Given the description of an element on the screen output the (x, y) to click on. 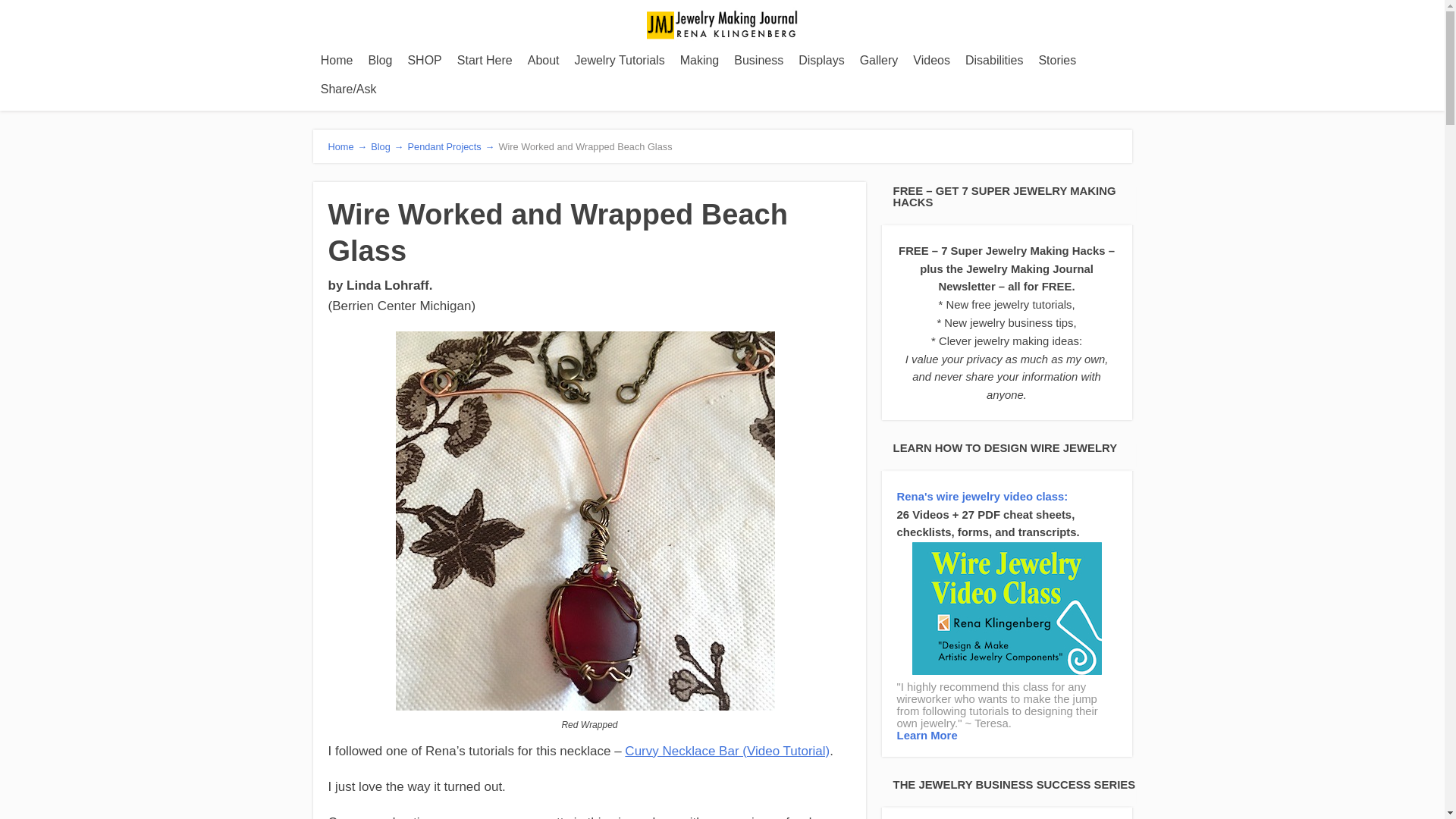
SHOP (423, 60)
Business (758, 60)
Blog (378, 60)
About (543, 60)
Making (699, 60)
Home (337, 60)
Jewelry Tutorials (619, 60)
Start Here (484, 60)
